Given the description of an element on the screen output the (x, y) to click on. 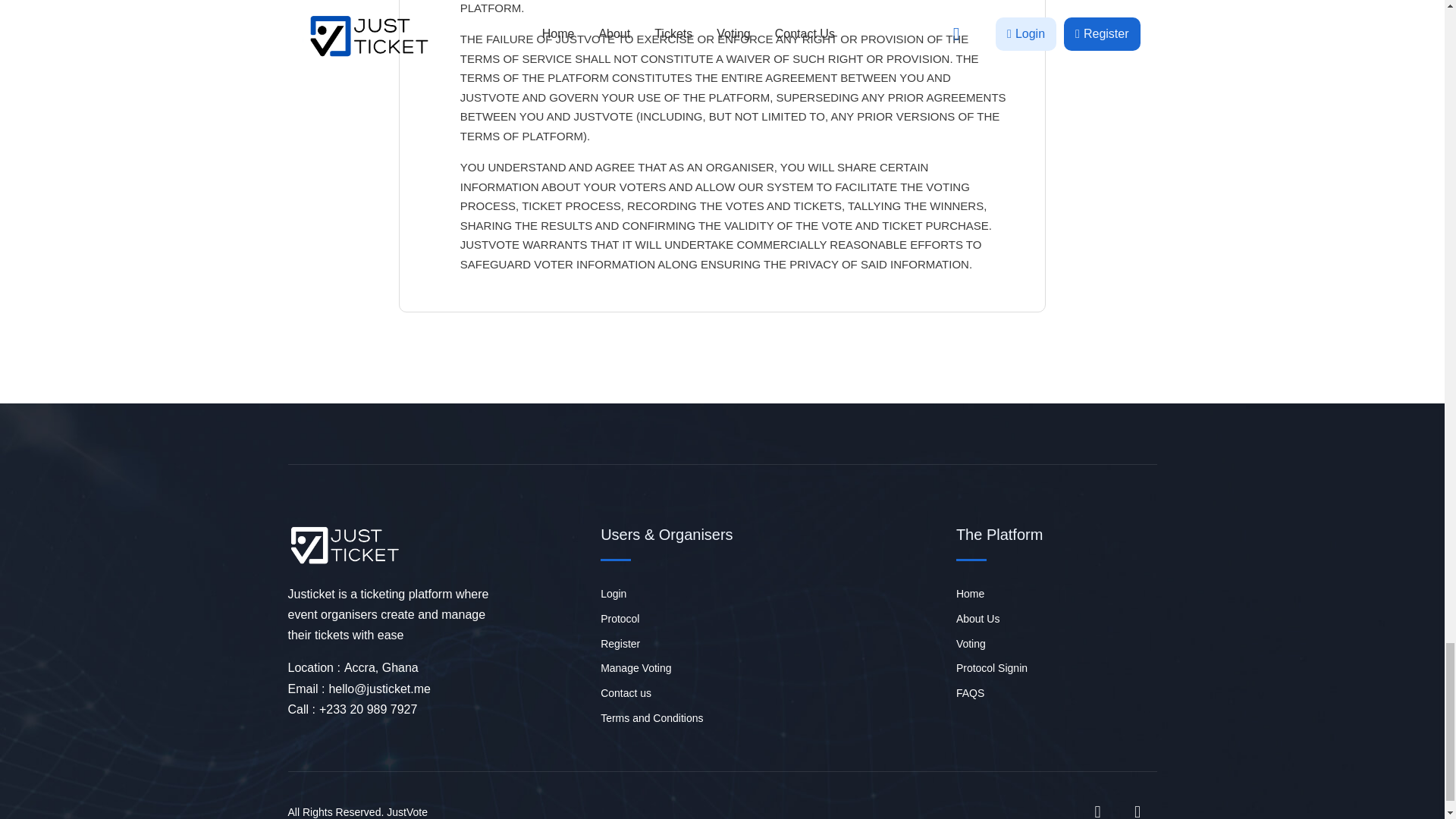
Register (666, 646)
Protocol Signin (999, 670)
Contact us (666, 695)
Login (666, 596)
Terms and Conditions (666, 721)
About Us (999, 621)
Home (999, 596)
Voting (999, 646)
Protocol (666, 621)
Manage Voting (666, 670)
